Given the description of an element on the screen output the (x, y) to click on. 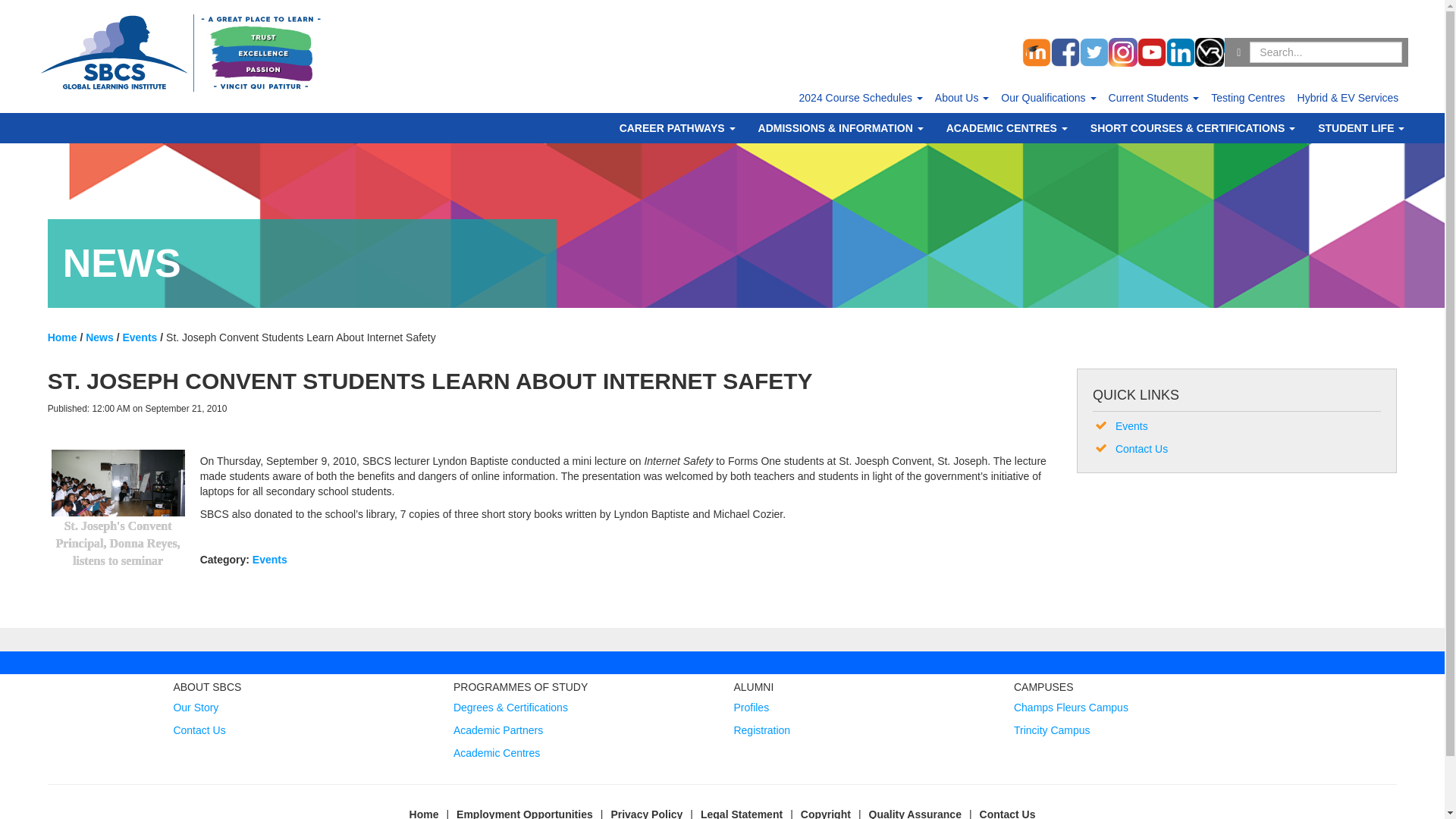
SBCS Global Learning Institute (180, 51)
